Given the description of an element on the screen output the (x, y) to click on. 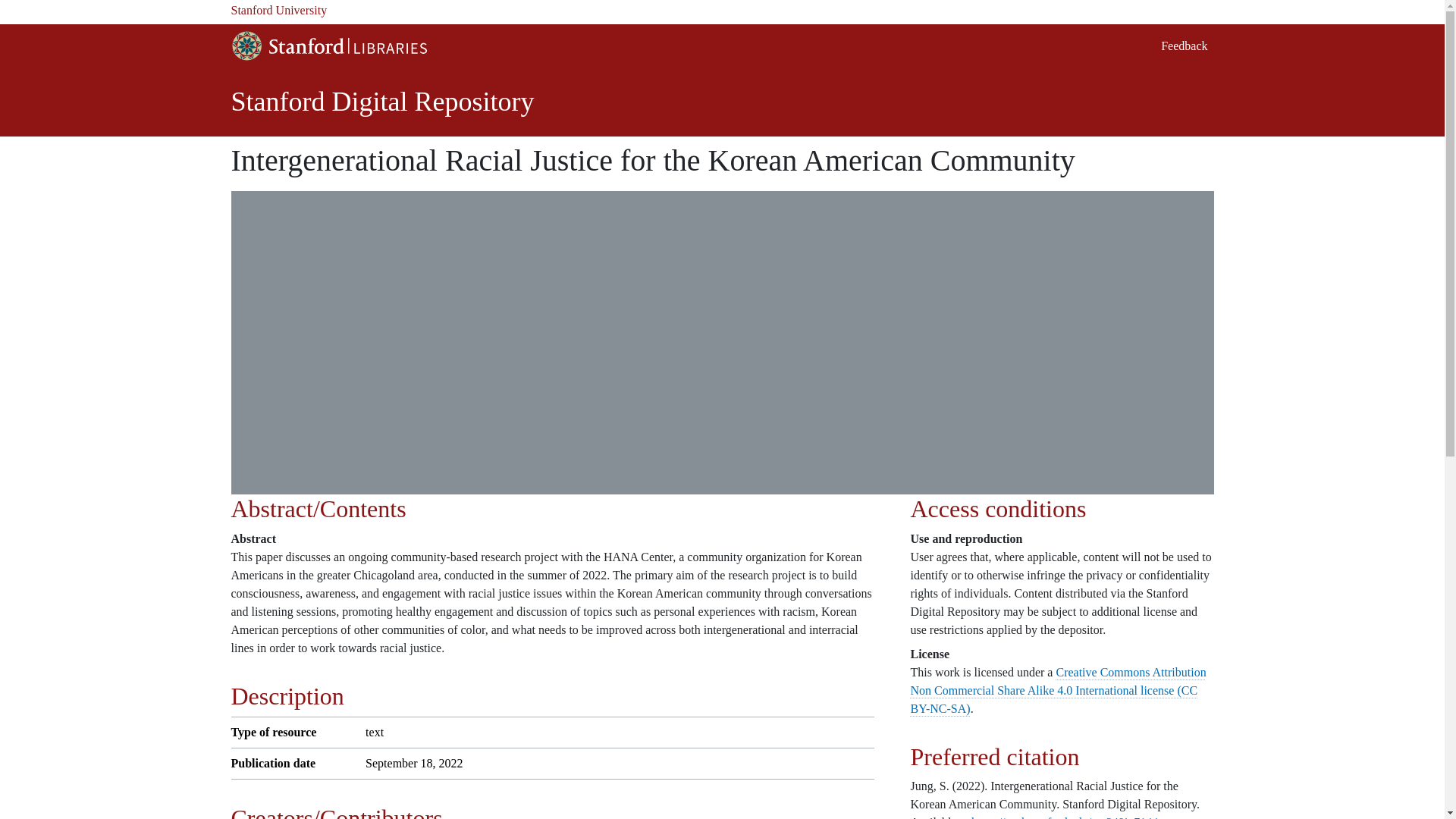
Stanford University (721, 12)
Stanford Digital Repository (382, 101)
Stanford Libraries (328, 45)
Feedback (1183, 45)
